Given the description of an element on the screen output the (x, y) to click on. 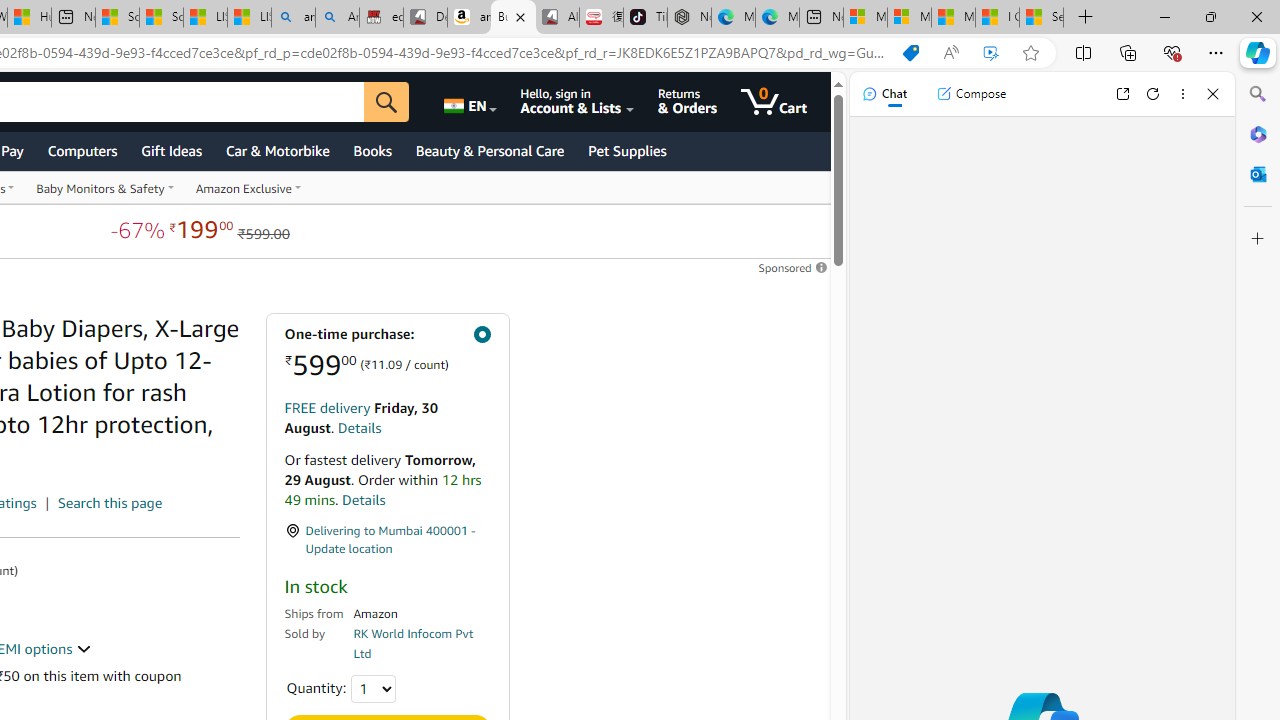
amazon.in/dp/B0CX59H5W7/?tag=gsmcom05-21 (469, 17)
Chat (884, 93)
Microsoft Start (953, 17)
Nordace - Best Sellers (689, 17)
Amazon Echo Dot PNG - Search Images (337, 17)
More options (1182, 93)
